Given the description of an element on the screen output the (x, y) to click on. 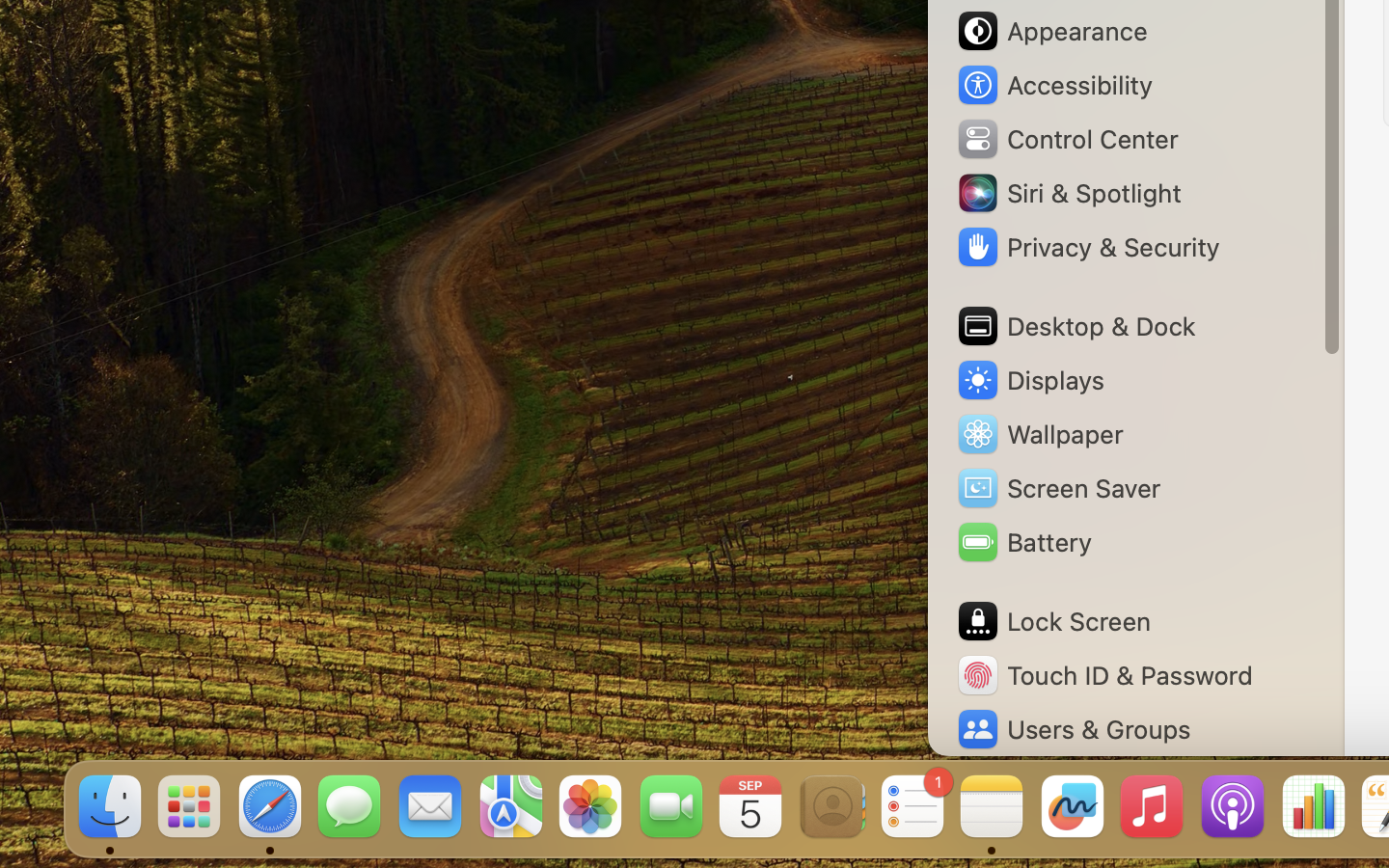
Desktop & Dock Element type: AXStaticText (1075, 325)
Siri & Spotlight Element type: AXStaticText (1067, 192)
Displays Element type: AXStaticText (1029, 379)
Appearance Element type: AXStaticText (1050, 30)
Privacy & Security Element type: AXStaticText (1086, 246)
